Given the description of an element on the screen output the (x, y) to click on. 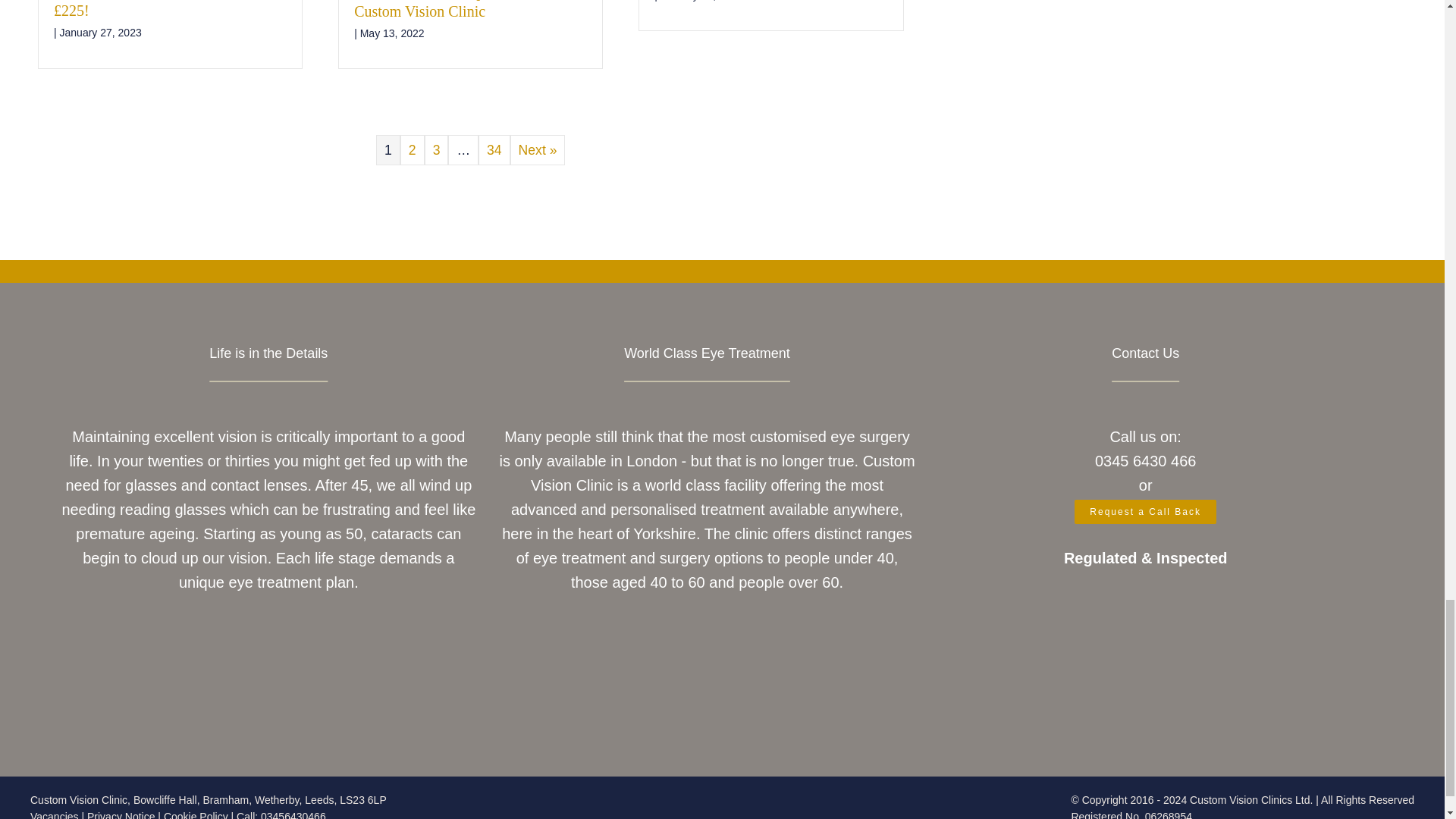
Request a call back for eye surgery in Leeds (1144, 511)
CQC Inspection Report (1145, 703)
Custom Vision Clinic on LinkedIn (751, 636)
Custom Vision Clinic on Twitter (691, 636)
Custom Vision Clinic on Youtube (721, 636)
Successful CQC Inspection for Custom Vision Clinic (447, 9)
Custom Vision Clinic on Facebook (630, 636)
Custom Vision Clinic on Instagram (661, 636)
